Given the description of an element on the screen output the (x, y) to click on. 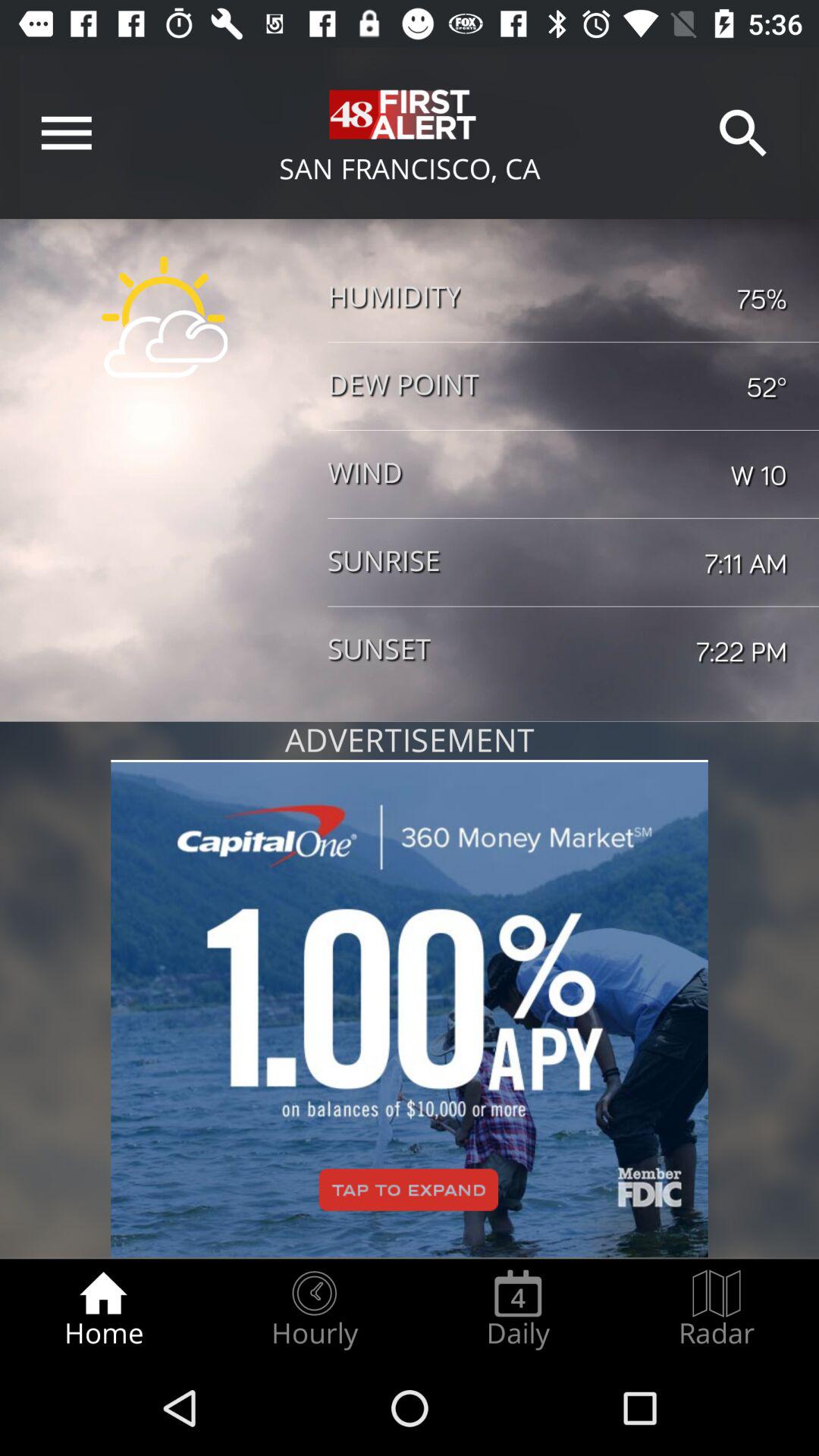
swipe to daily icon (518, 1309)
